Given the description of an element on the screen output the (x, y) to click on. 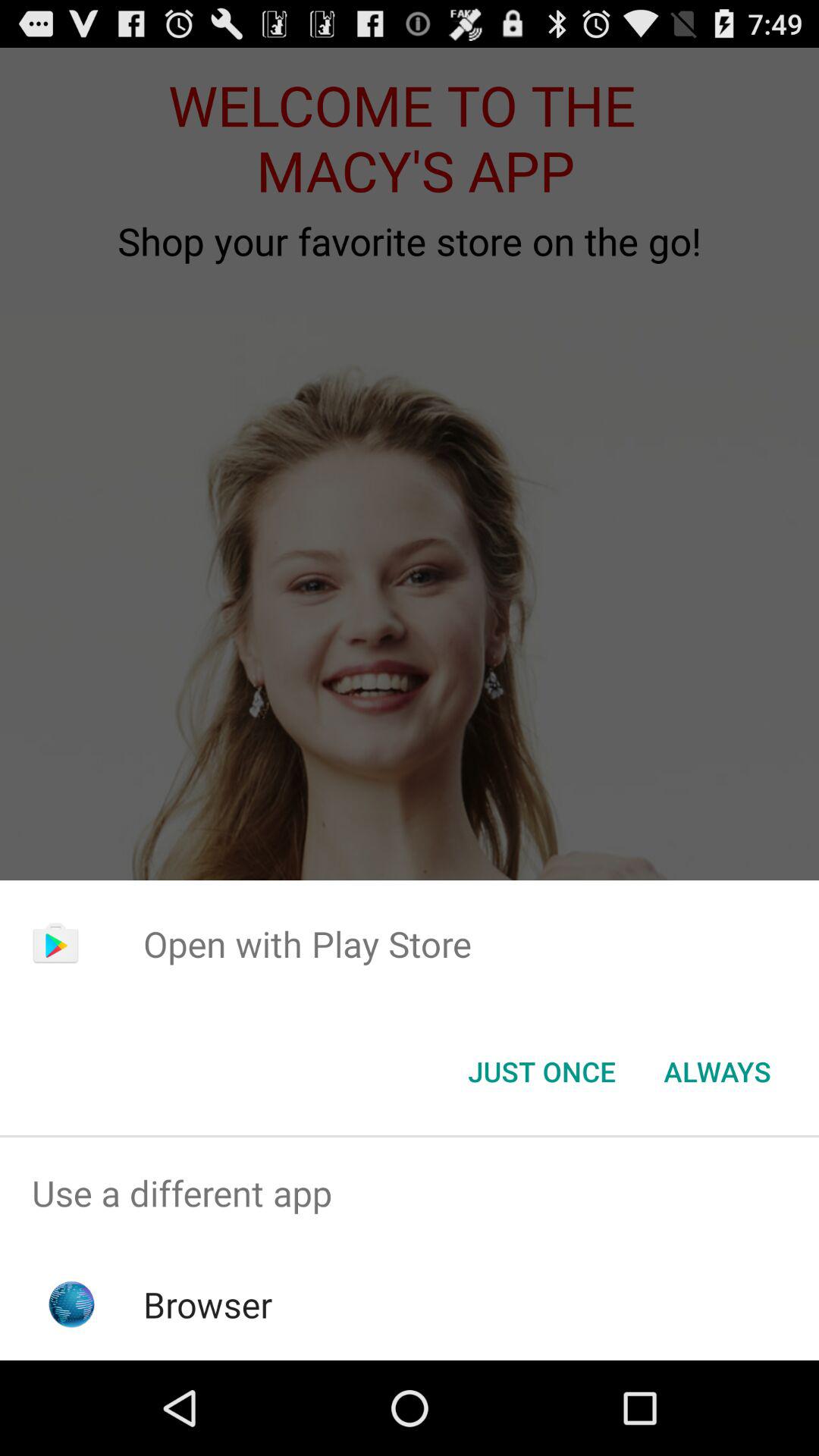
press the button to the right of just once button (717, 1071)
